Given the description of an element on the screen output the (x, y) to click on. 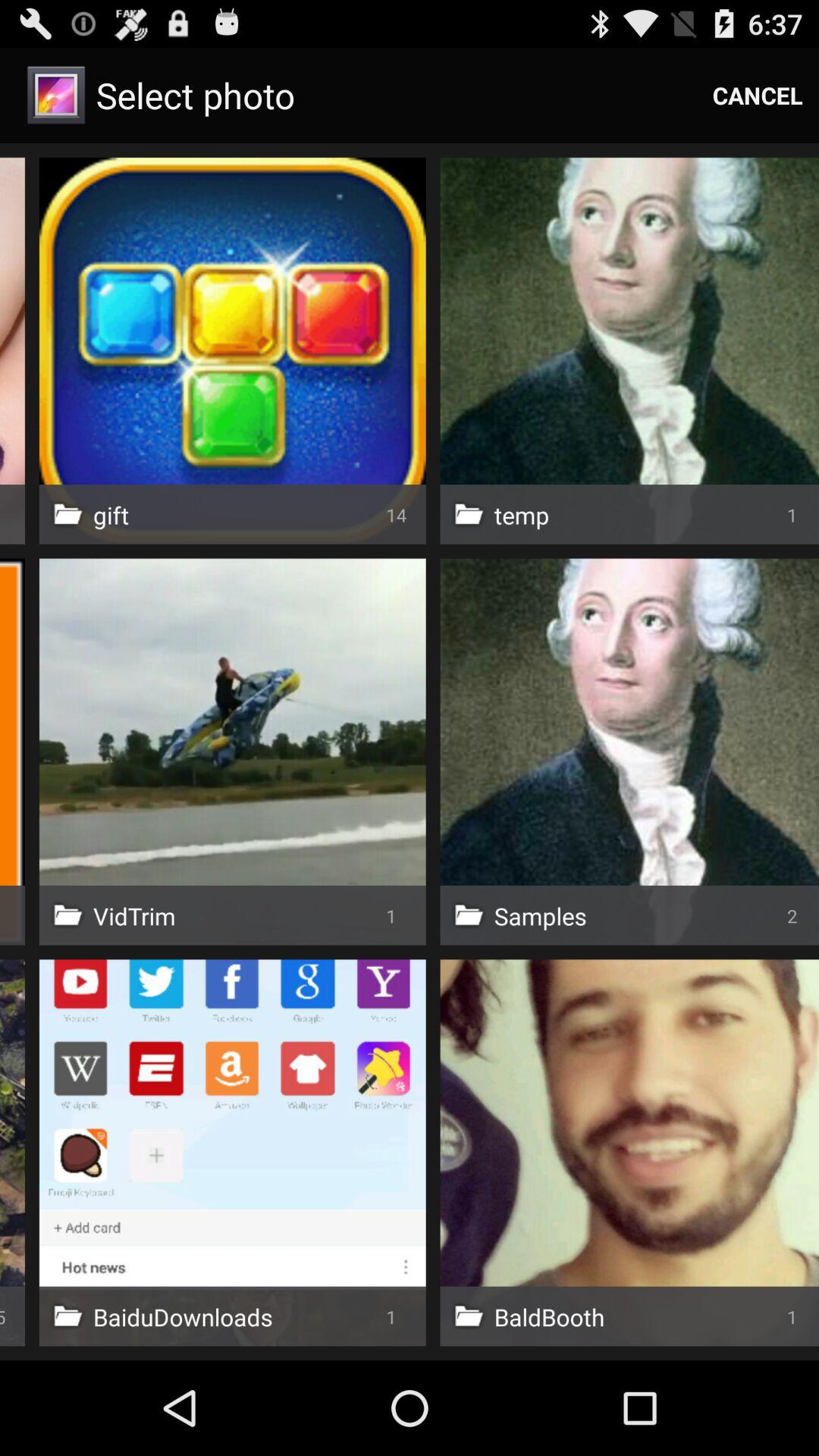
launch item to the right of select photo item (757, 95)
